Given the description of an element on the screen output the (x, y) to click on. 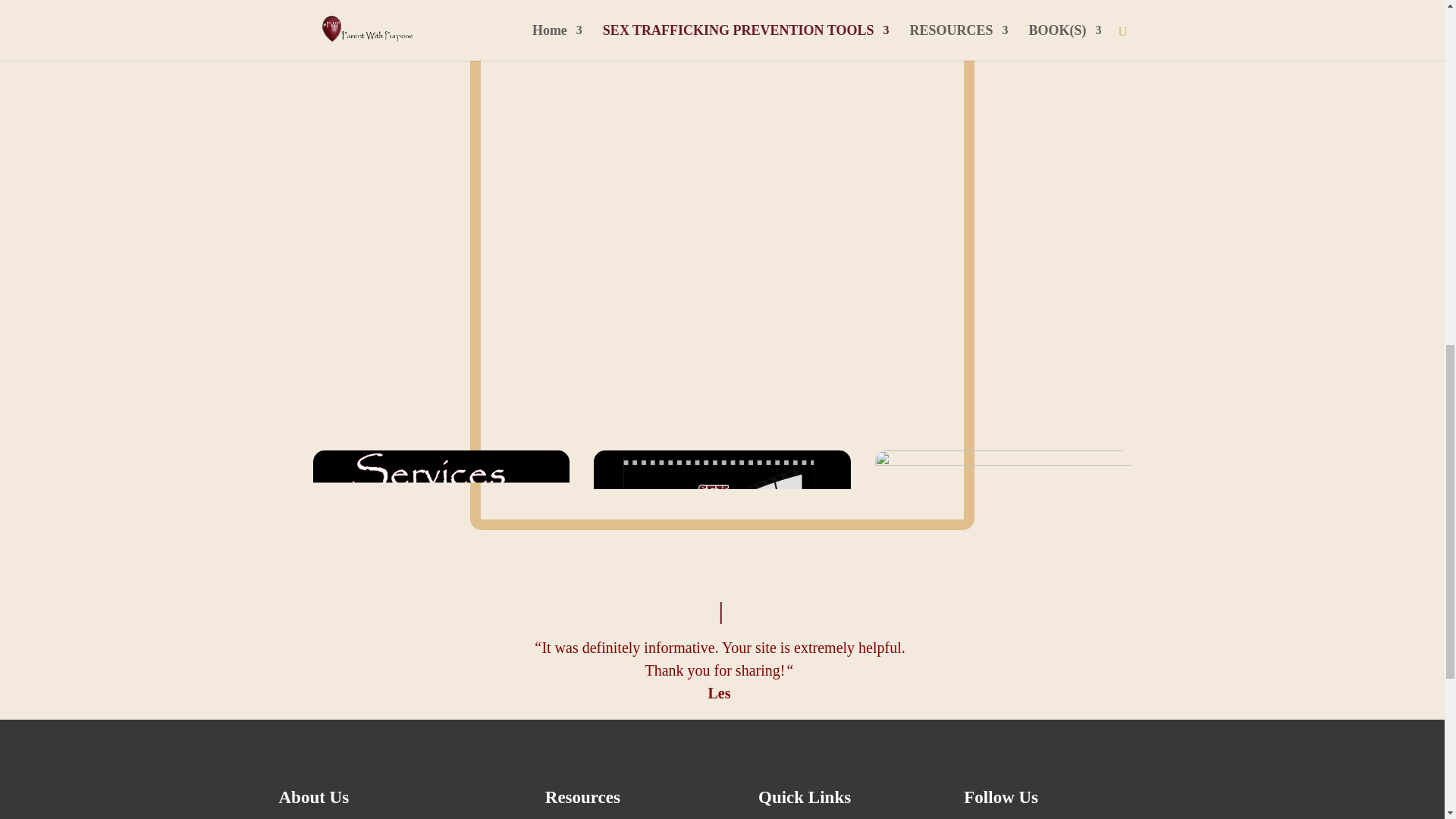
sex trafficking educational videos (722, 522)
parenting tools and awareness tools and games (1003, 522)
service (441, 522)
